Given the description of an element on the screen output the (x, y) to click on. 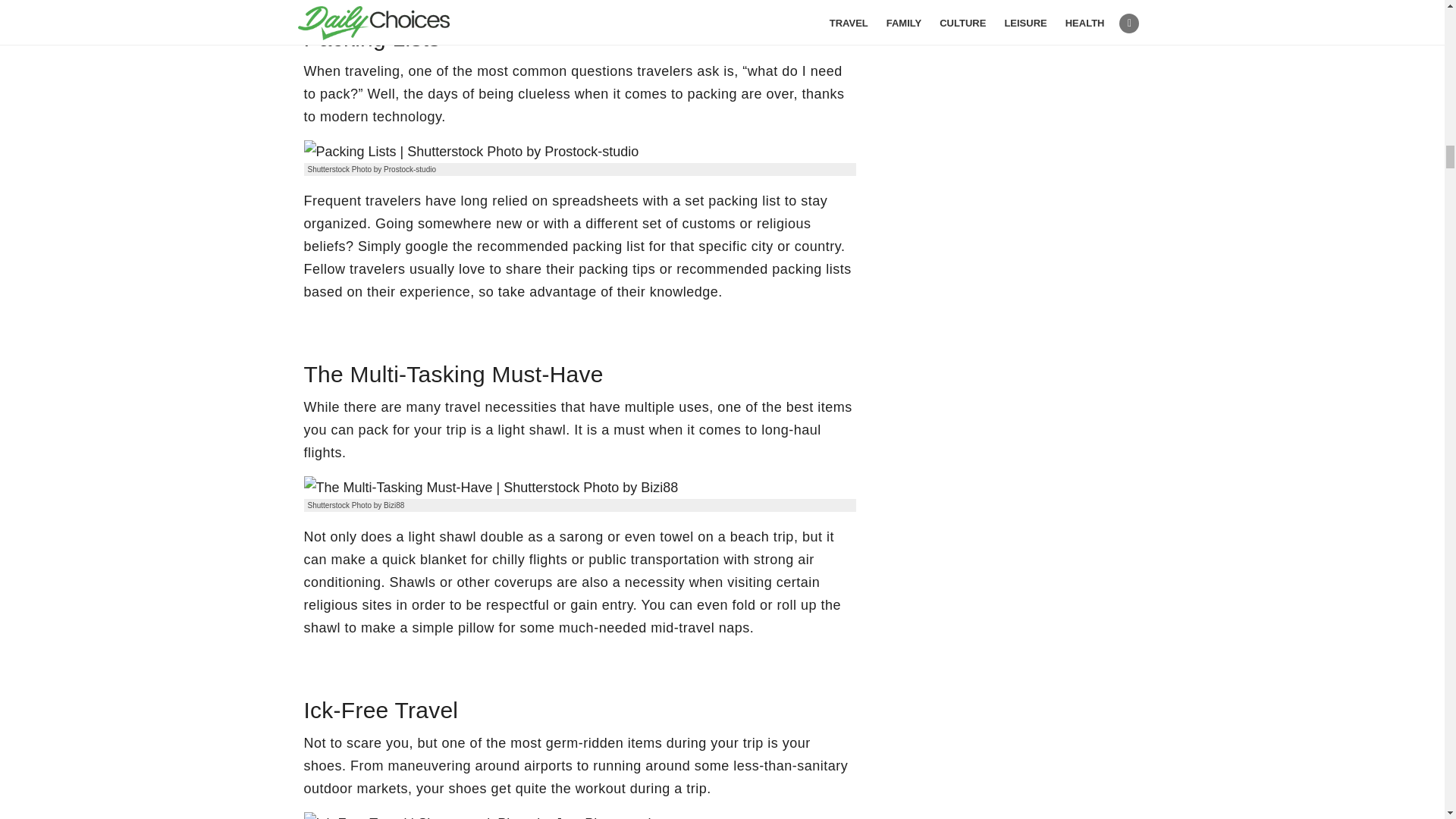
Packing Lists (470, 151)
The Multi-Tasking Must-Have (490, 486)
Ick-Free Travel (484, 815)
